Given the description of an element on the screen output the (x, y) to click on. 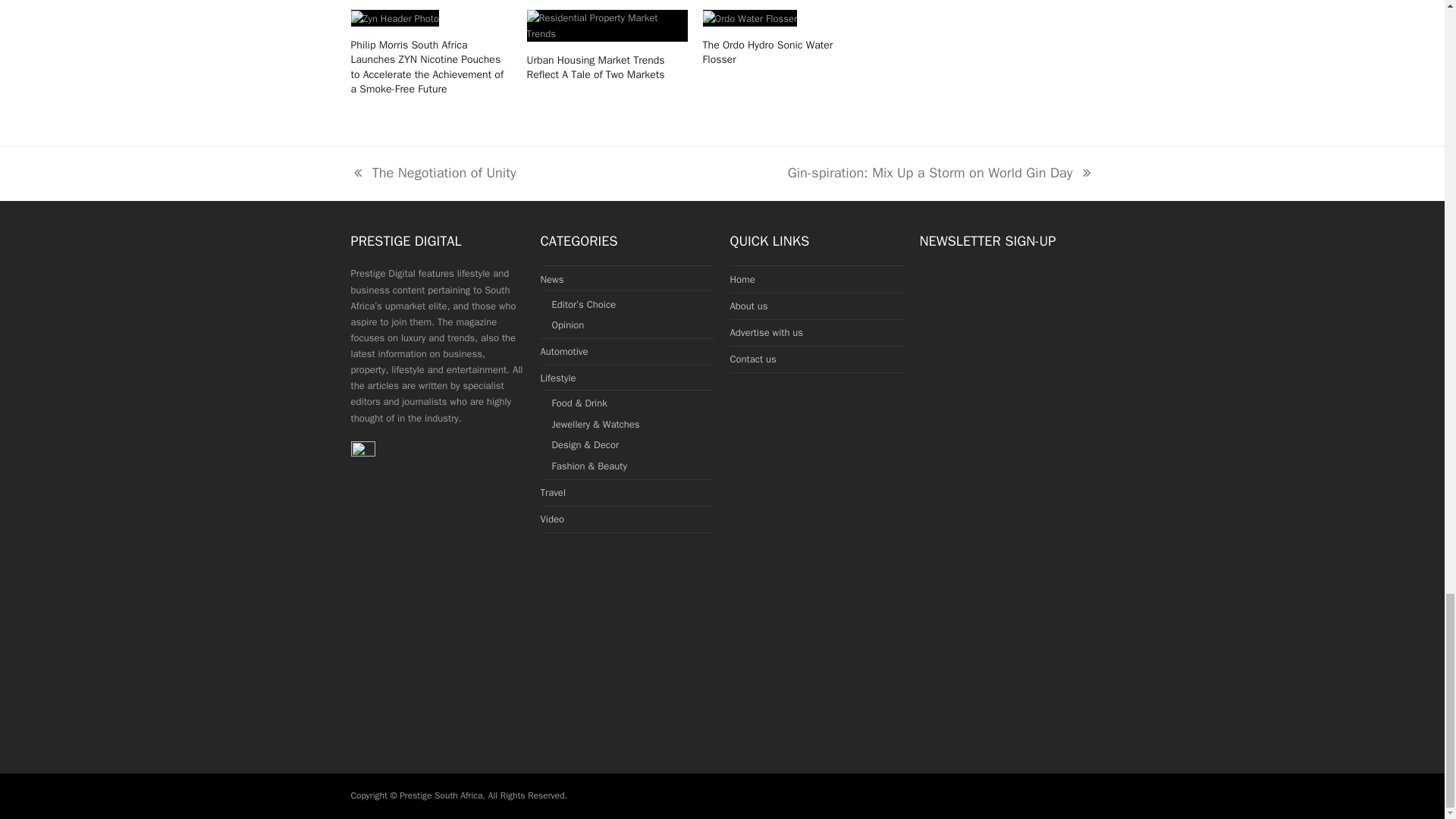
The Ordo Hydro Sonic Water Flosser (432, 172)
Urban Housing Market Trends Reflect A Tale of Two Markets (767, 52)
Urban Housing Market Trends Reflect A Tale of Two Markets (596, 67)
The Ordo Hydro Sonic Water Flosser (607, 25)
Opinion (940, 172)
News (750, 17)
